Given the description of an element on the screen output the (x, y) to click on. 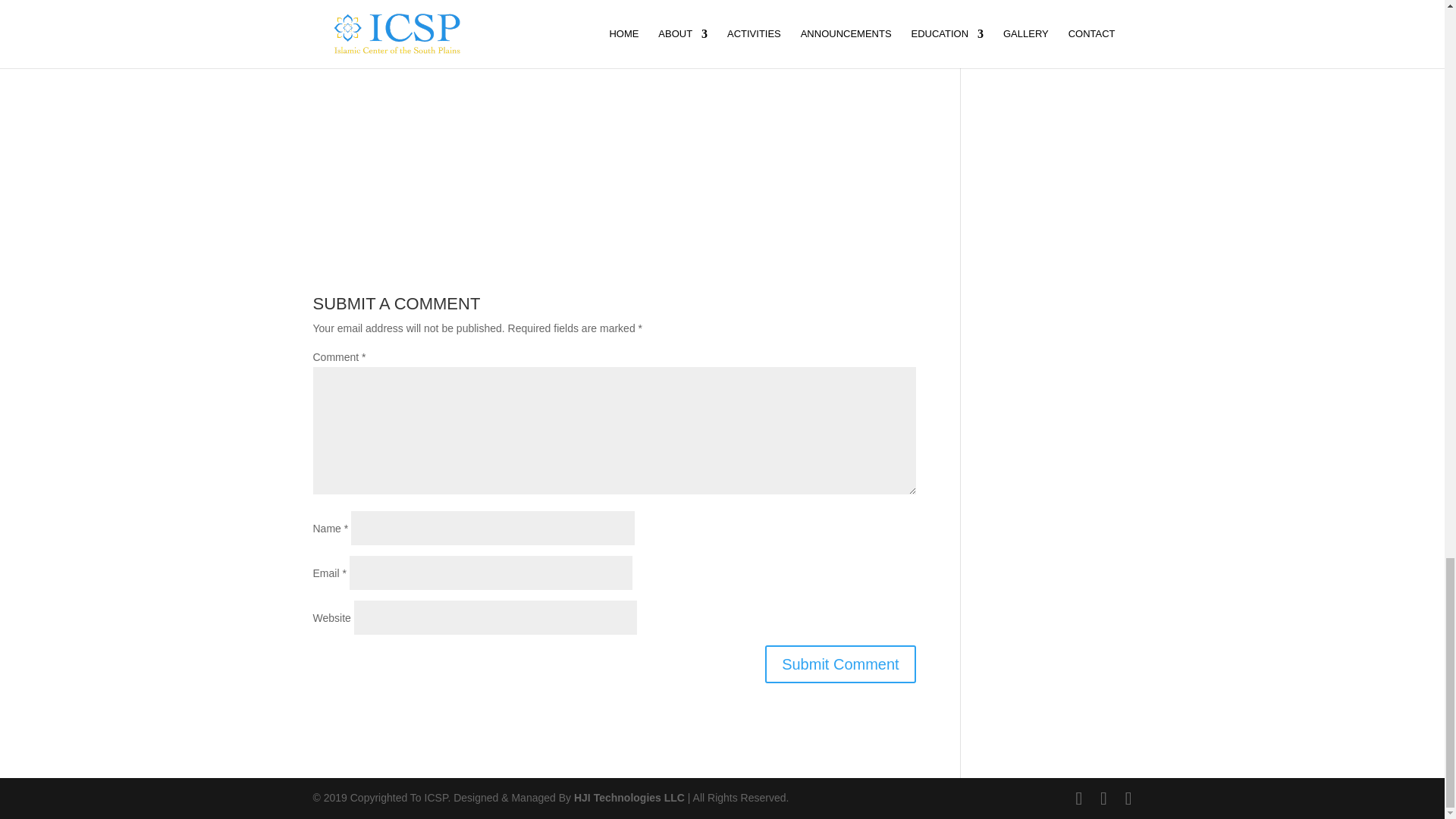
Submit Comment (840, 664)
HJI Technologies LLC (628, 797)
Submit Comment (840, 664)
